Given the description of an element on the screen output the (x, y) to click on. 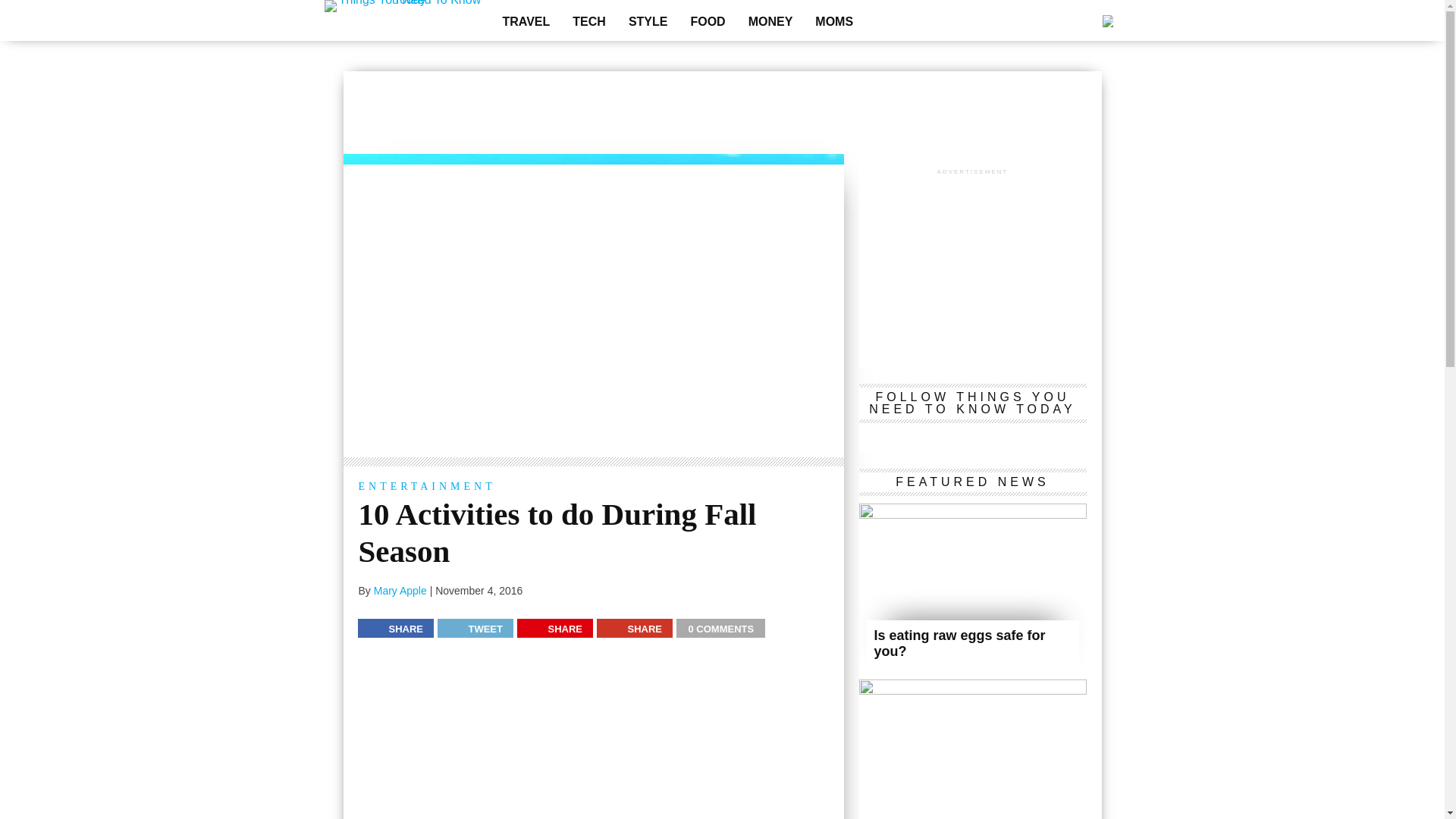
Mary Apple (400, 590)
TRAVEL (527, 21)
MOMS (833, 21)
MONEY (770, 21)
STYLE (648, 21)
FOOD (707, 21)
Posts by Mary Apple (400, 590)
TECH (588, 21)
